Given the description of an element on the screen output the (x, y) to click on. 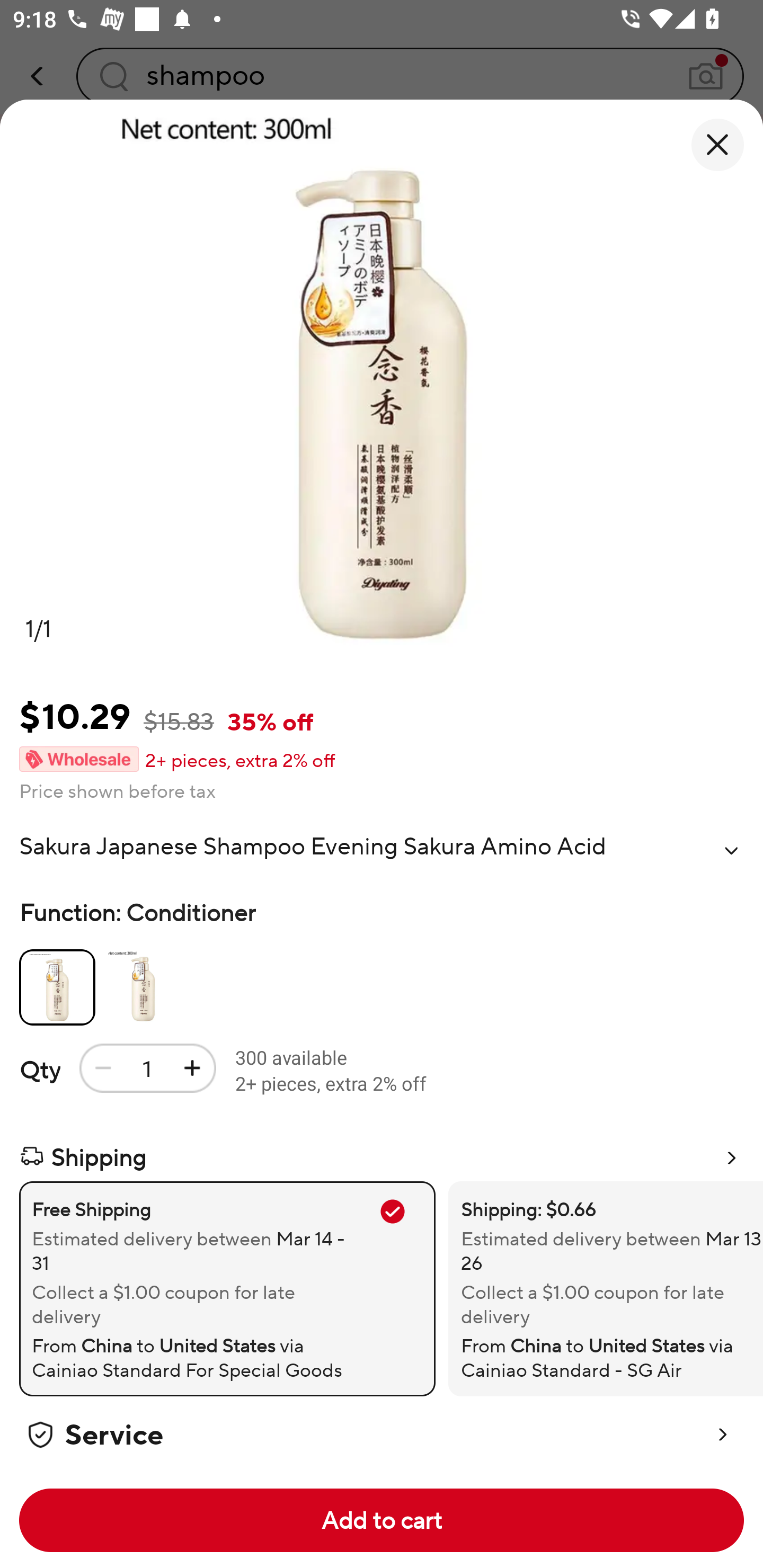
close  (717, 144)
 (730, 850)
Add to cart (381, 1520)
